Given the description of an element on the screen output the (x, y) to click on. 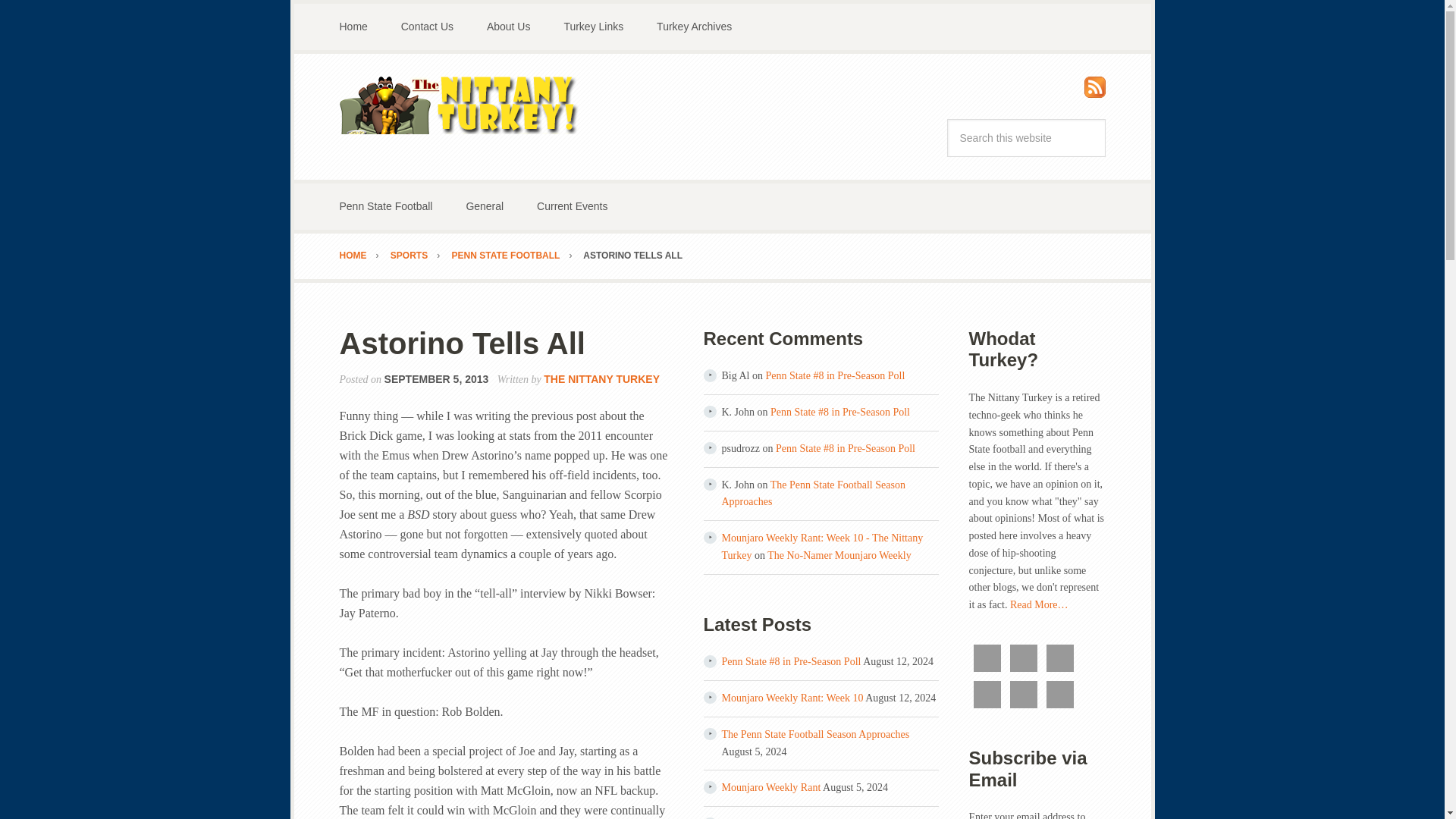
PENN STATE FOOTBALL (515, 255)
Home (353, 26)
Subscribe to posts (1094, 90)
Current Events (572, 206)
THE NITTANY TURKEY (601, 378)
Turkey Links (593, 26)
Penn State Football (386, 206)
